Given the description of an element on the screen output the (x, y) to click on. 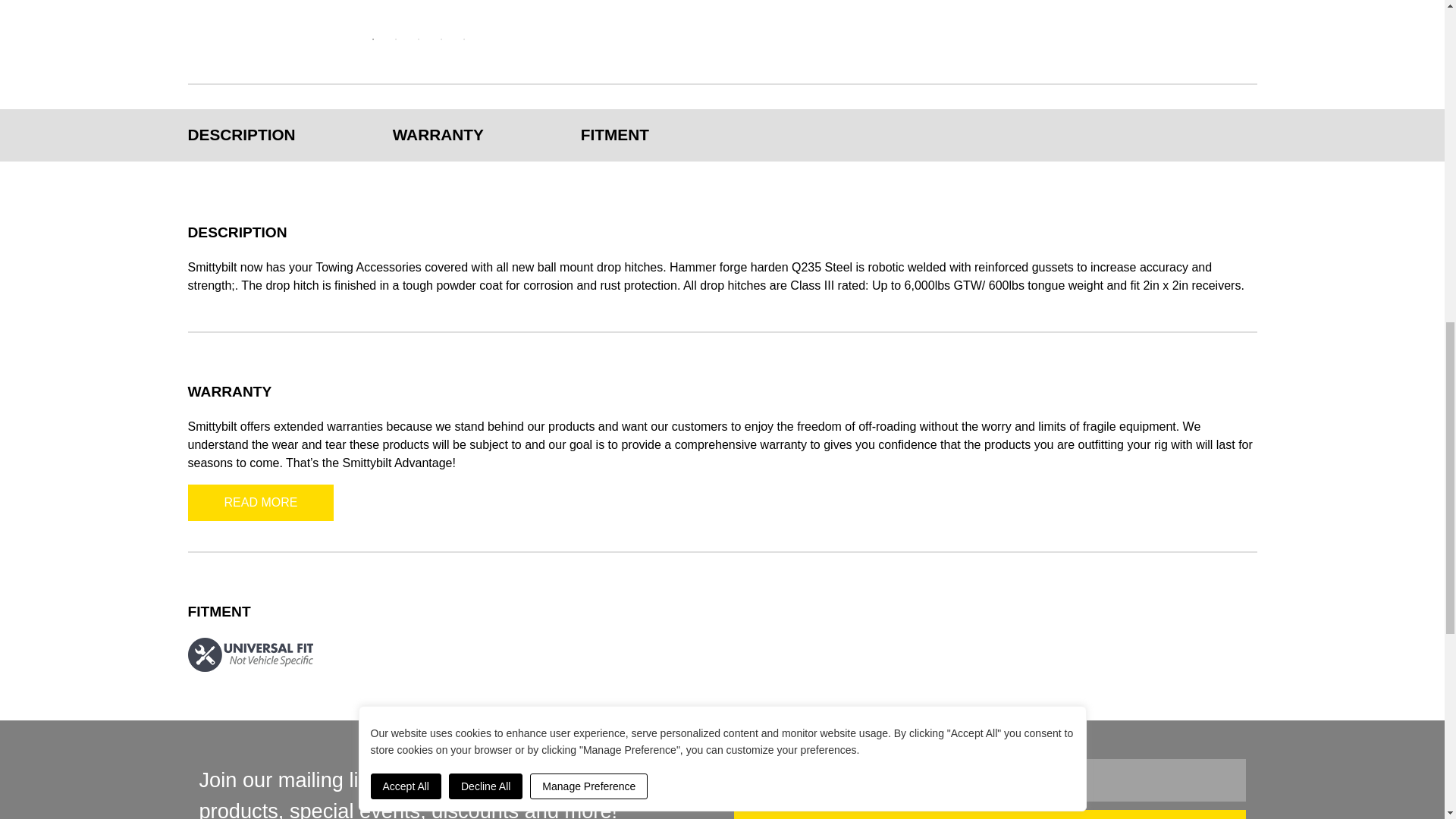
Join The List (989, 814)
